Given the description of an element on the screen output the (x, y) to click on. 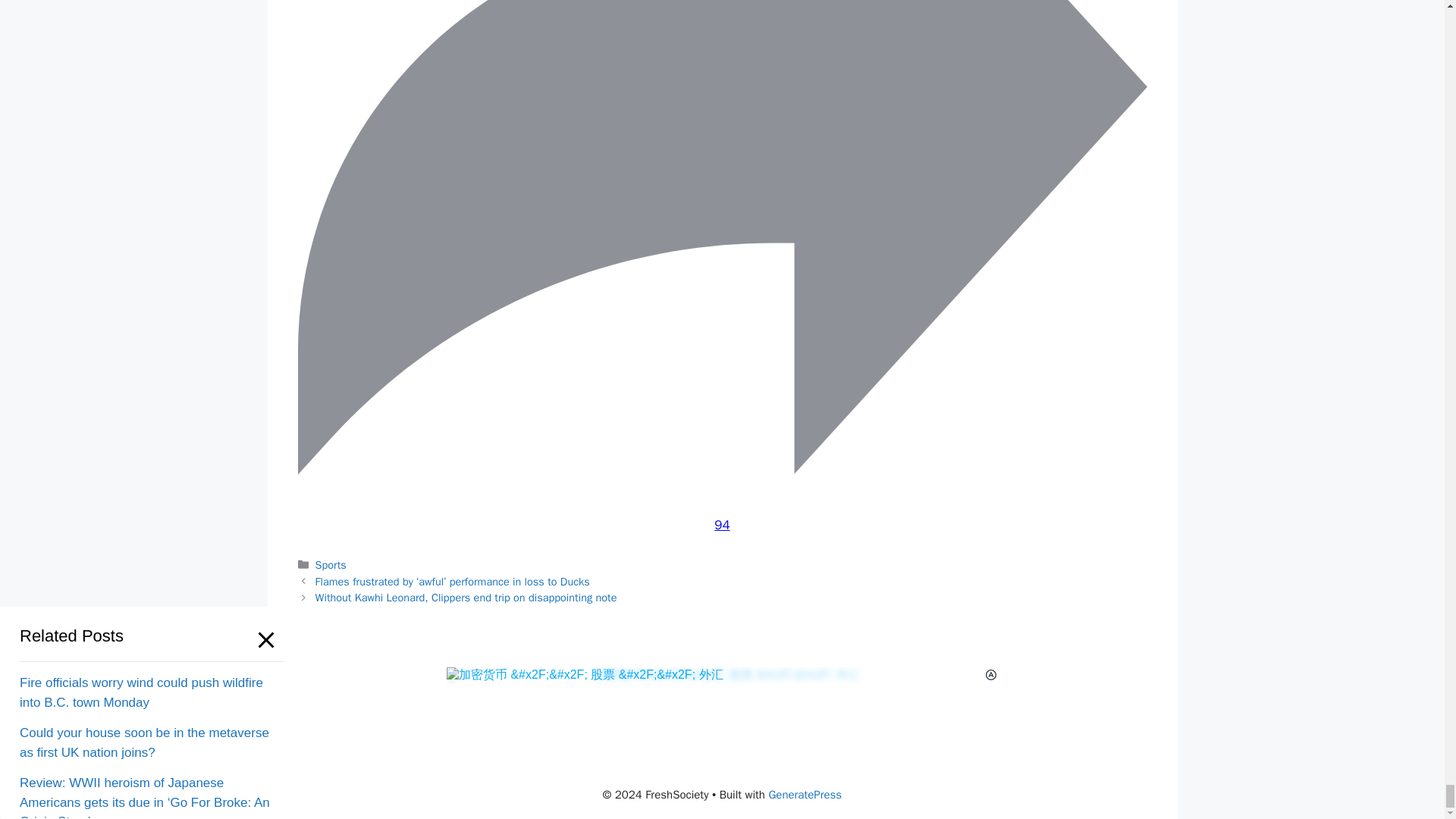
GeneratePress (804, 794)
Sports (330, 564)
